Given the description of an element on the screen output the (x, y) to click on. 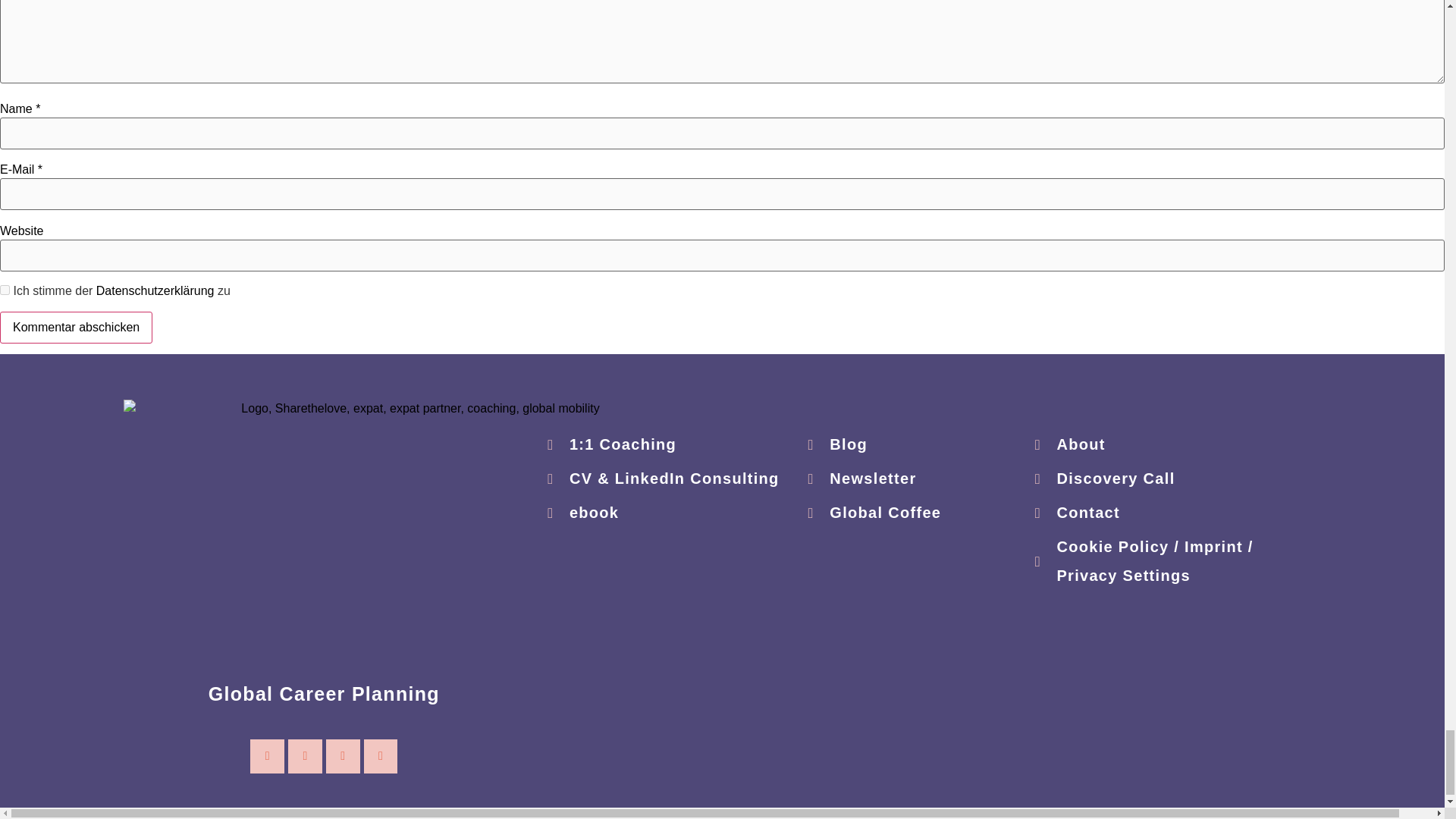
1 (5, 289)
Kommentar abschicken (76, 327)
